Given the description of an element on the screen output the (x, y) to click on. 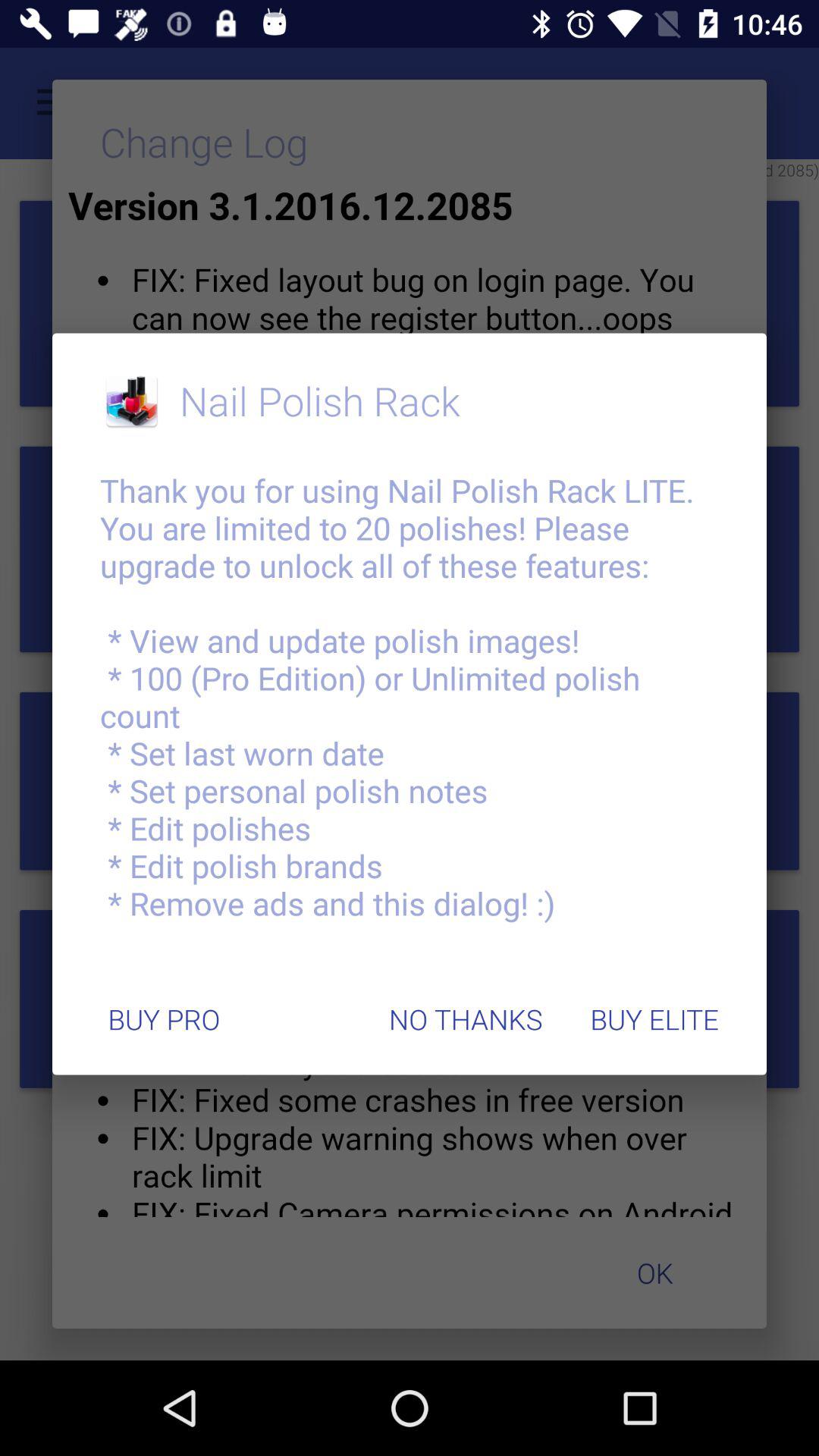
press the item below the thank you for item (654, 1018)
